Given the description of an element on the screen output the (x, y) to click on. 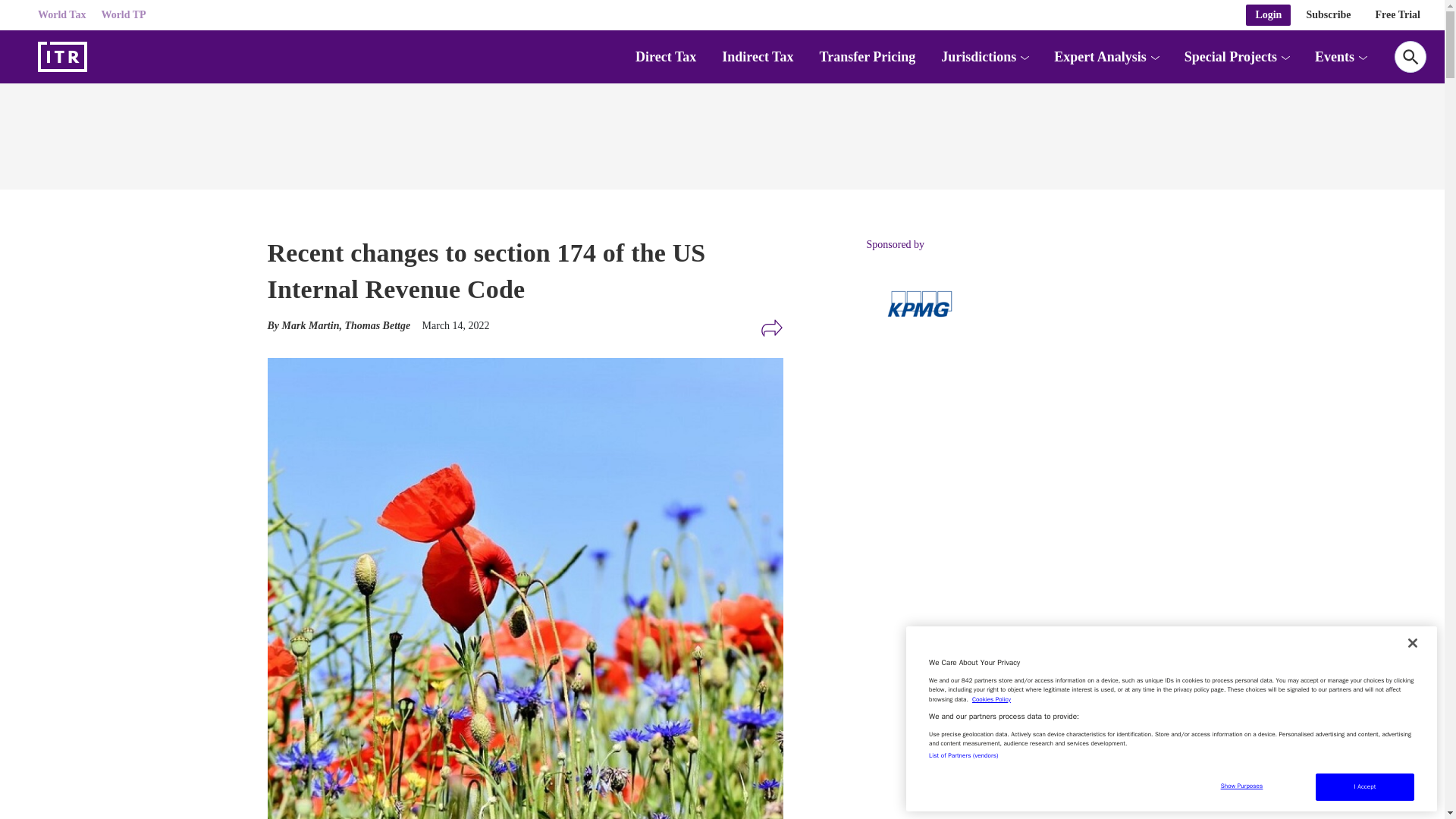
3rd party ad content (979, 471)
3rd party ad content (979, 700)
World Tax (61, 14)
Expert Analysis (1100, 56)
3rd party ad content (721, 132)
Share (771, 327)
Subscribe (1328, 14)
Transfer Pricing (866, 56)
Login (1268, 14)
Direct Tax (664, 56)
Free Trial (1398, 14)
Indirect Tax (757, 56)
World TP (122, 14)
